Given the description of an element on the screen output the (x, y) to click on. 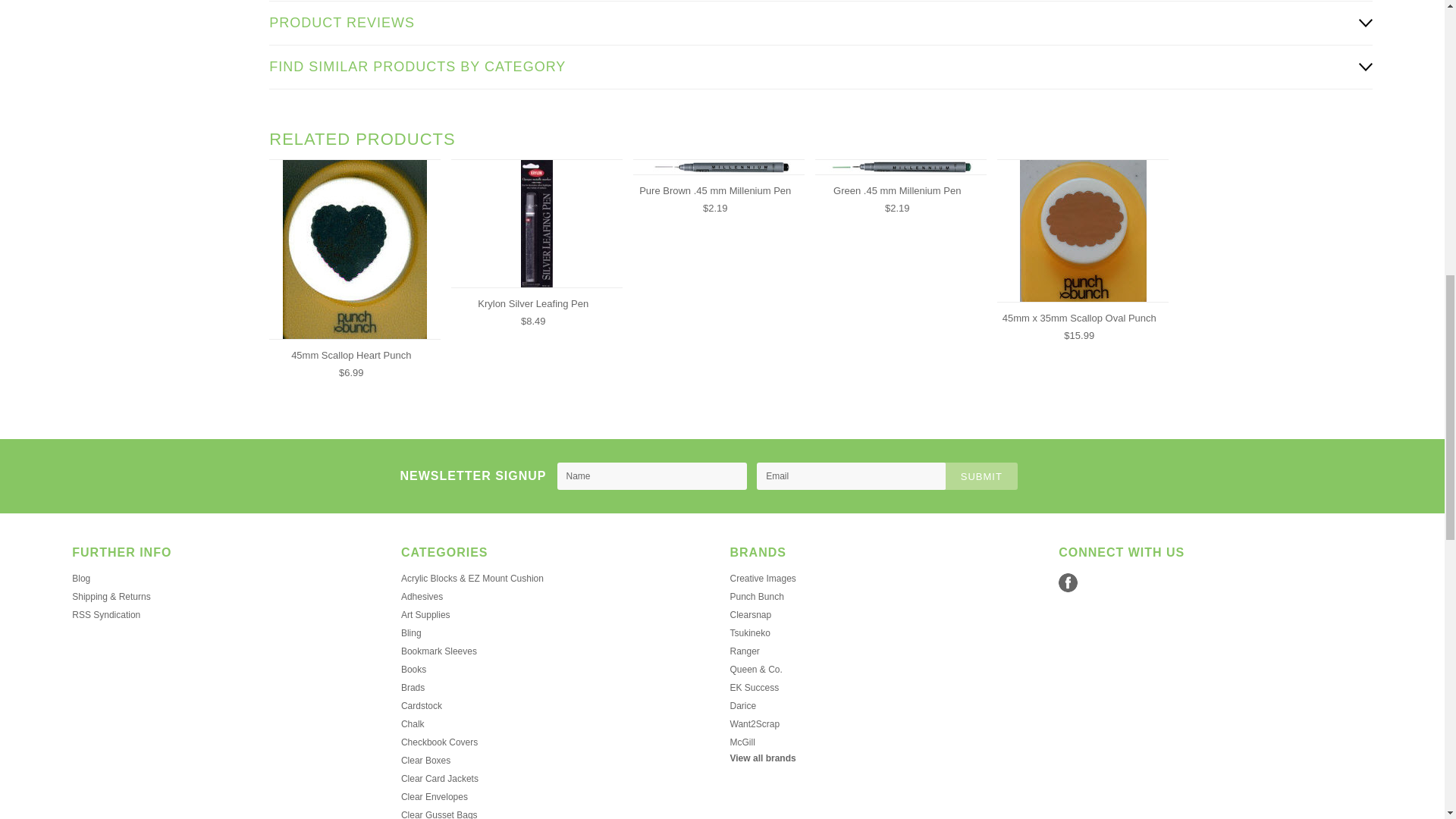
Name (651, 475)
Email (851, 475)
Submit (980, 475)
Facebook (1067, 582)
